Given the description of an element on the screen output the (x, y) to click on. 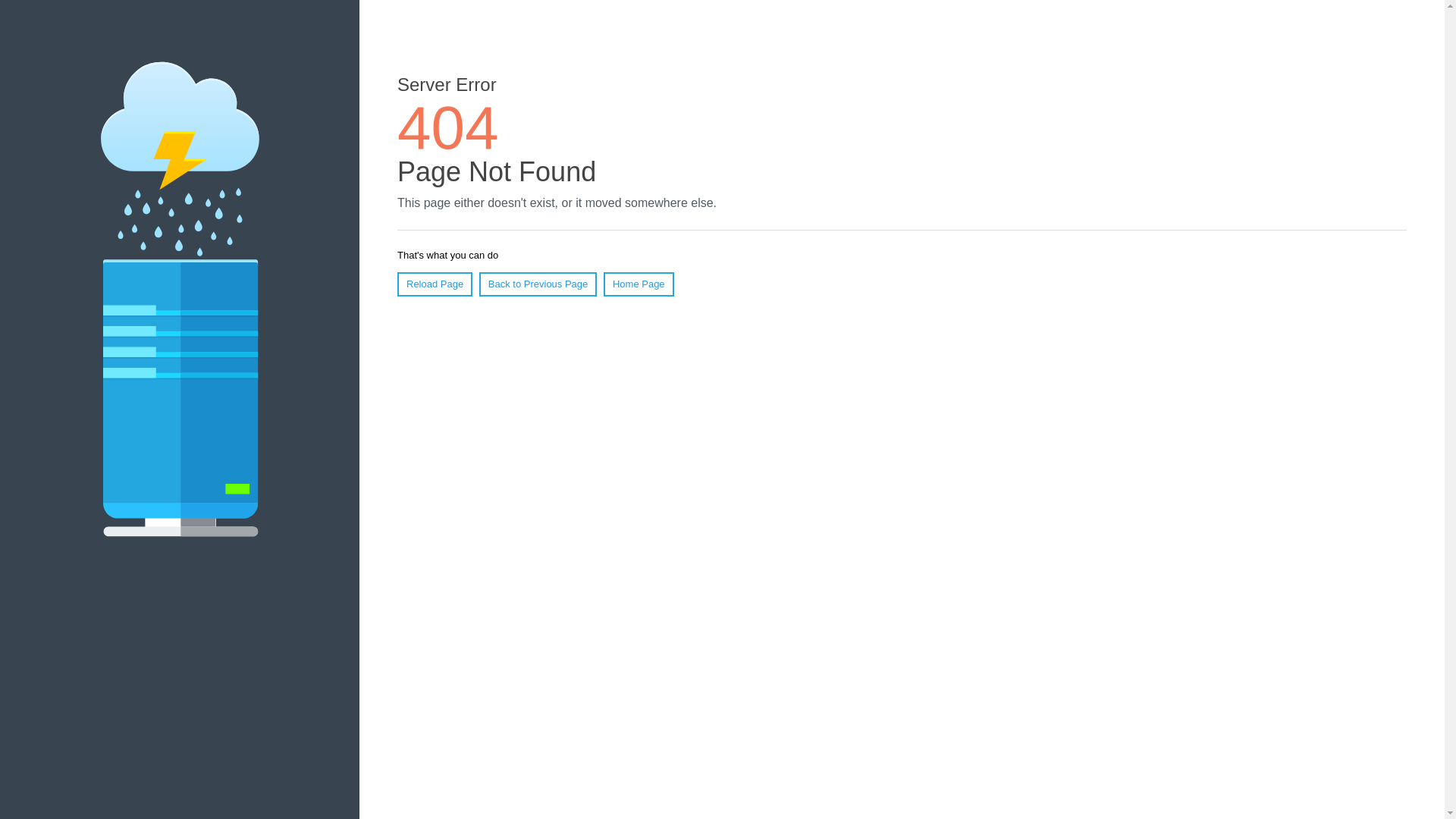
Reload Page Element type: text (434, 284)
Back to Previous Page Element type: text (538, 284)
Home Page Element type: text (638, 284)
